Given the description of an element on the screen output the (x, y) to click on. 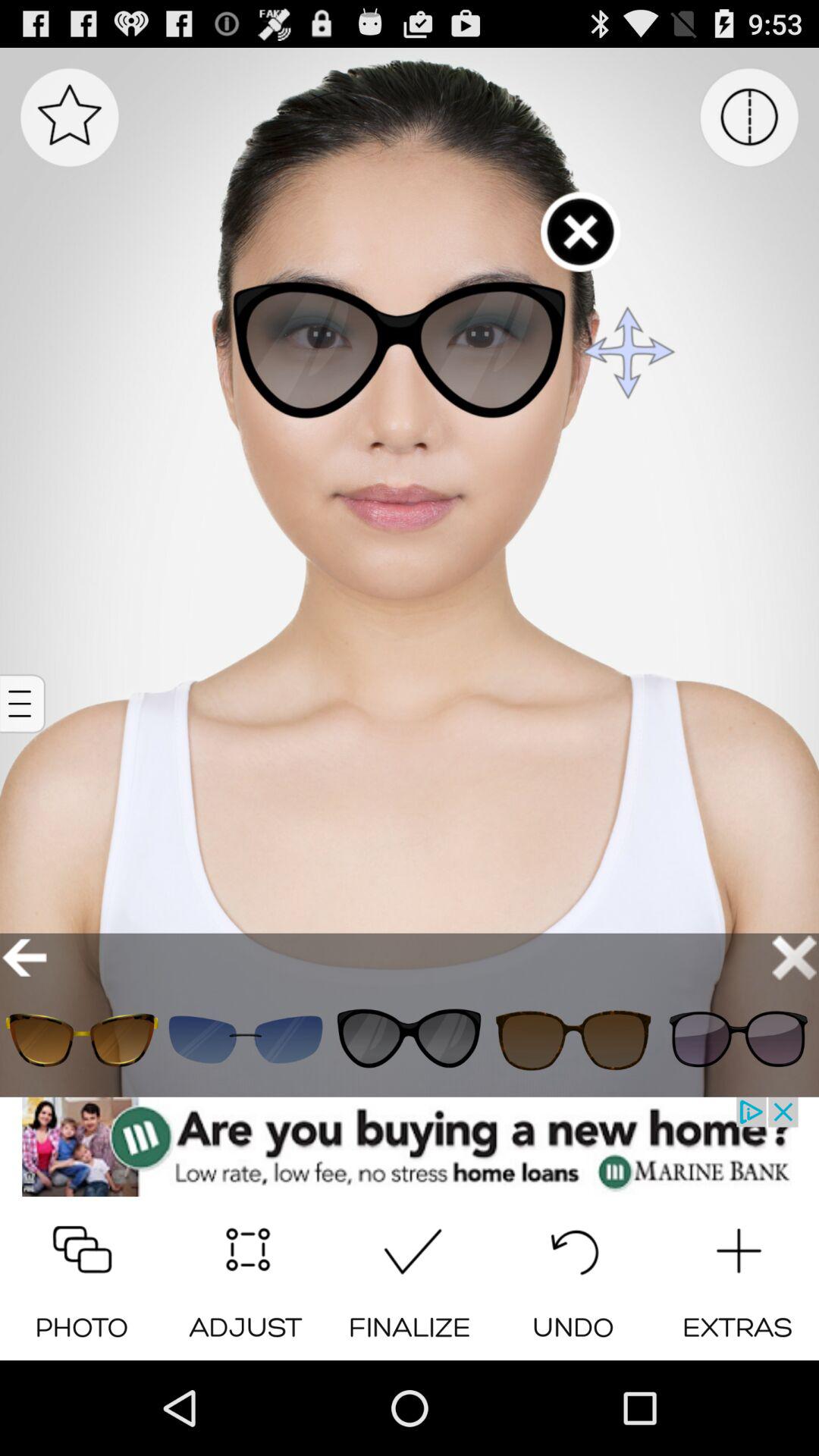
glasses selection (409, 1039)
